Given the description of an element on the screen output the (x, y) to click on. 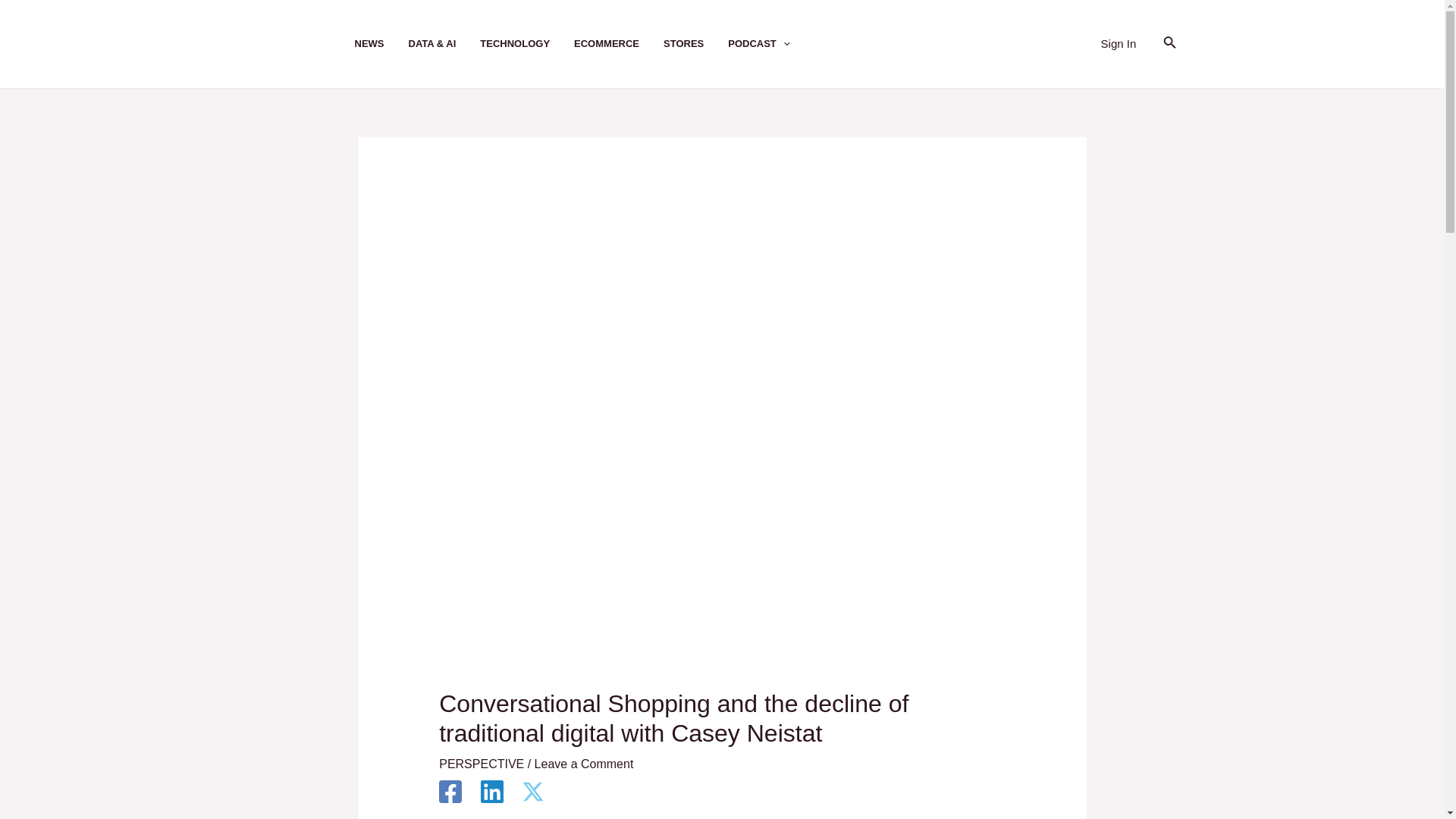
Leave a Comment (583, 763)
PERSPECTIVE (481, 763)
TECHNOLOGY (526, 43)
NEWS (382, 43)
Search (1169, 44)
STORES (695, 43)
ECOMMERCE (618, 43)
PODCAST (770, 43)
Sign In (1118, 43)
